Given the description of an element on the screen output the (x, y) to click on. 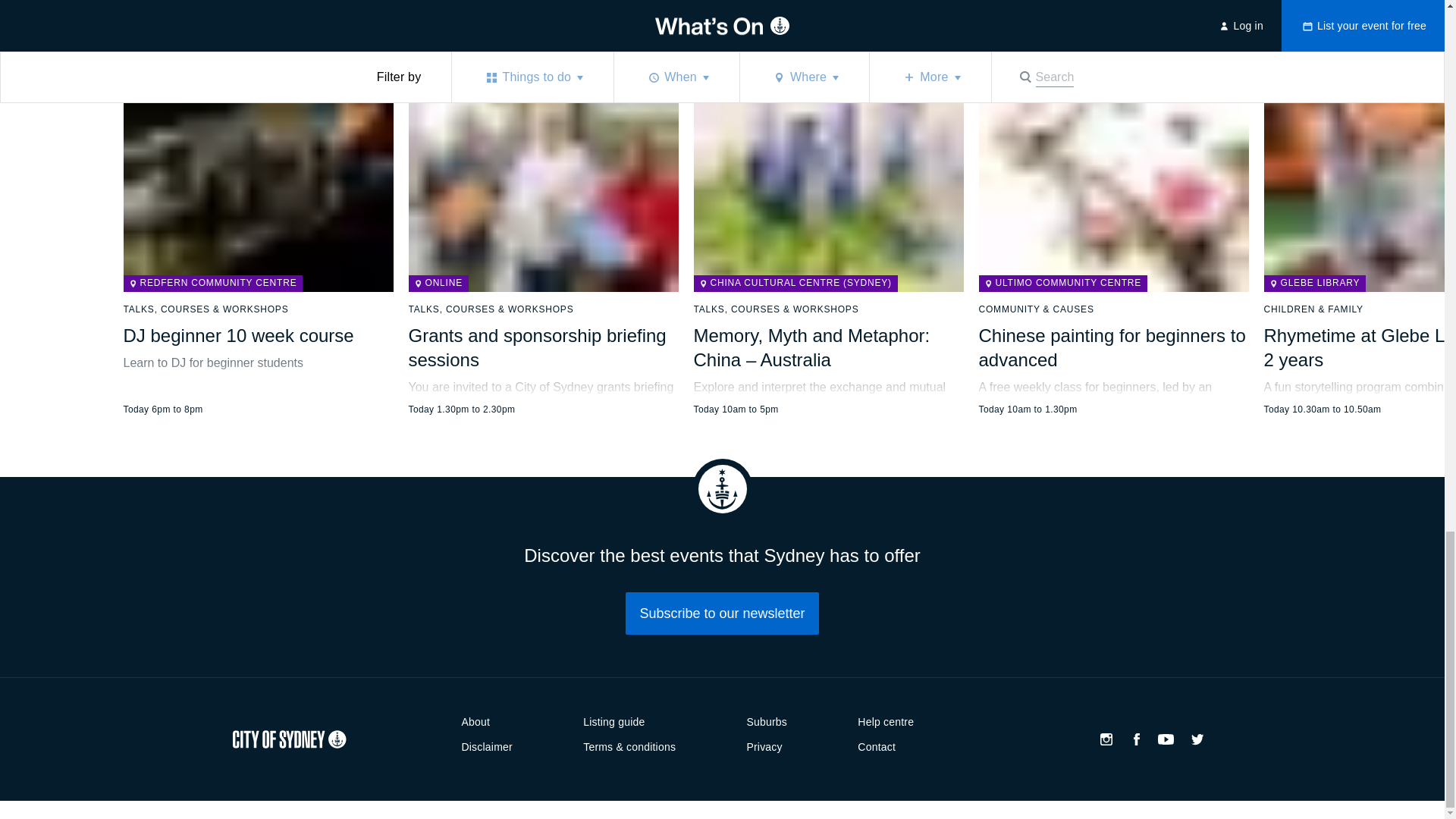
DJ beginner 10 week course (257, 219)
REDFERN COMMUNITY CENTRE (212, 283)
Grants and sponsorship briefing sessions (542, 219)
DJ beginner 10 week course (237, 335)
ONLINE (437, 283)
